Given the description of an element on the screen output the (x, y) to click on. 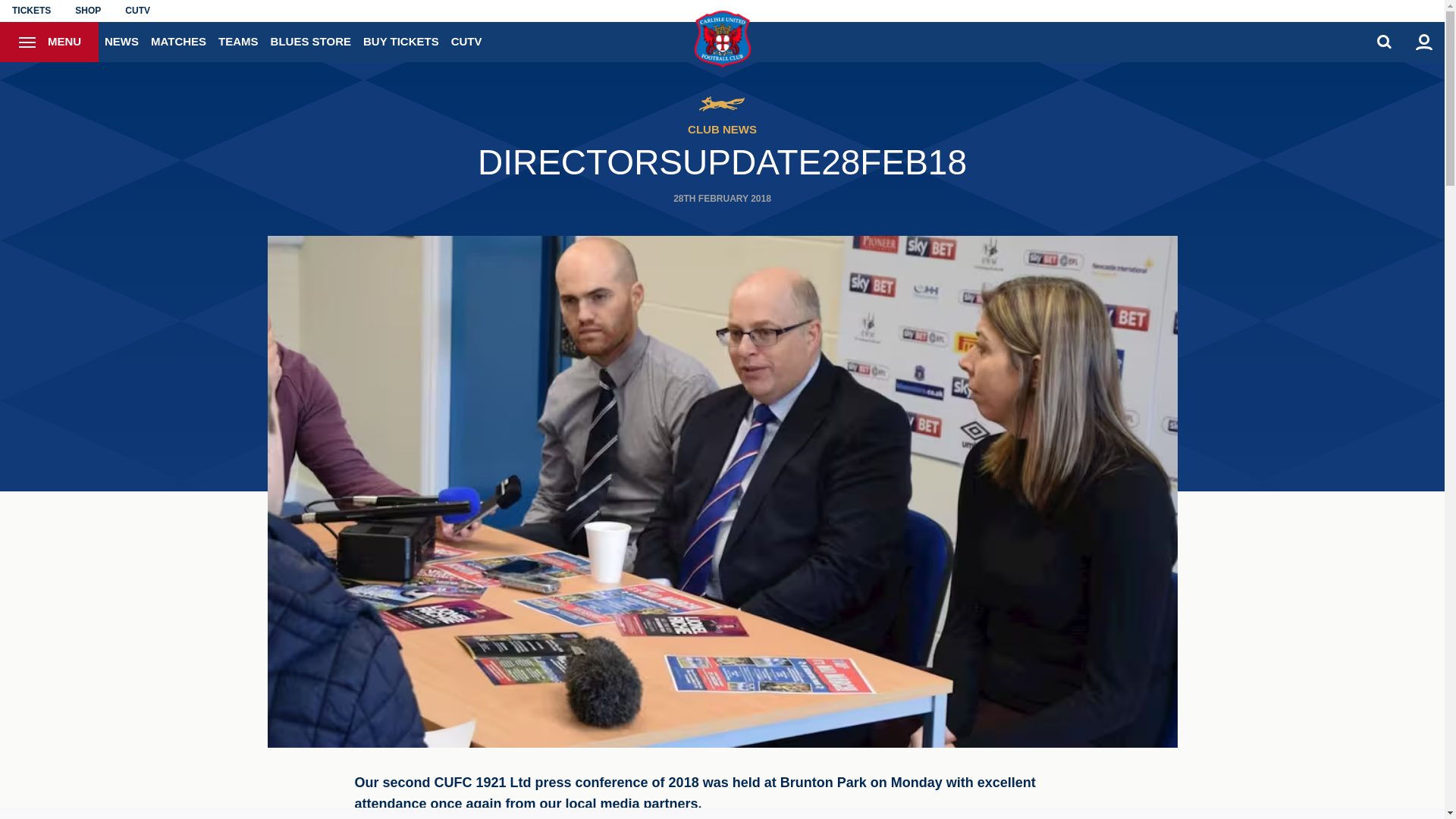
TICKETS (31, 11)
SHOP (87, 11)
MENU (49, 42)
CUTV (137, 11)
